Given the description of an element on the screen output the (x, y) to click on. 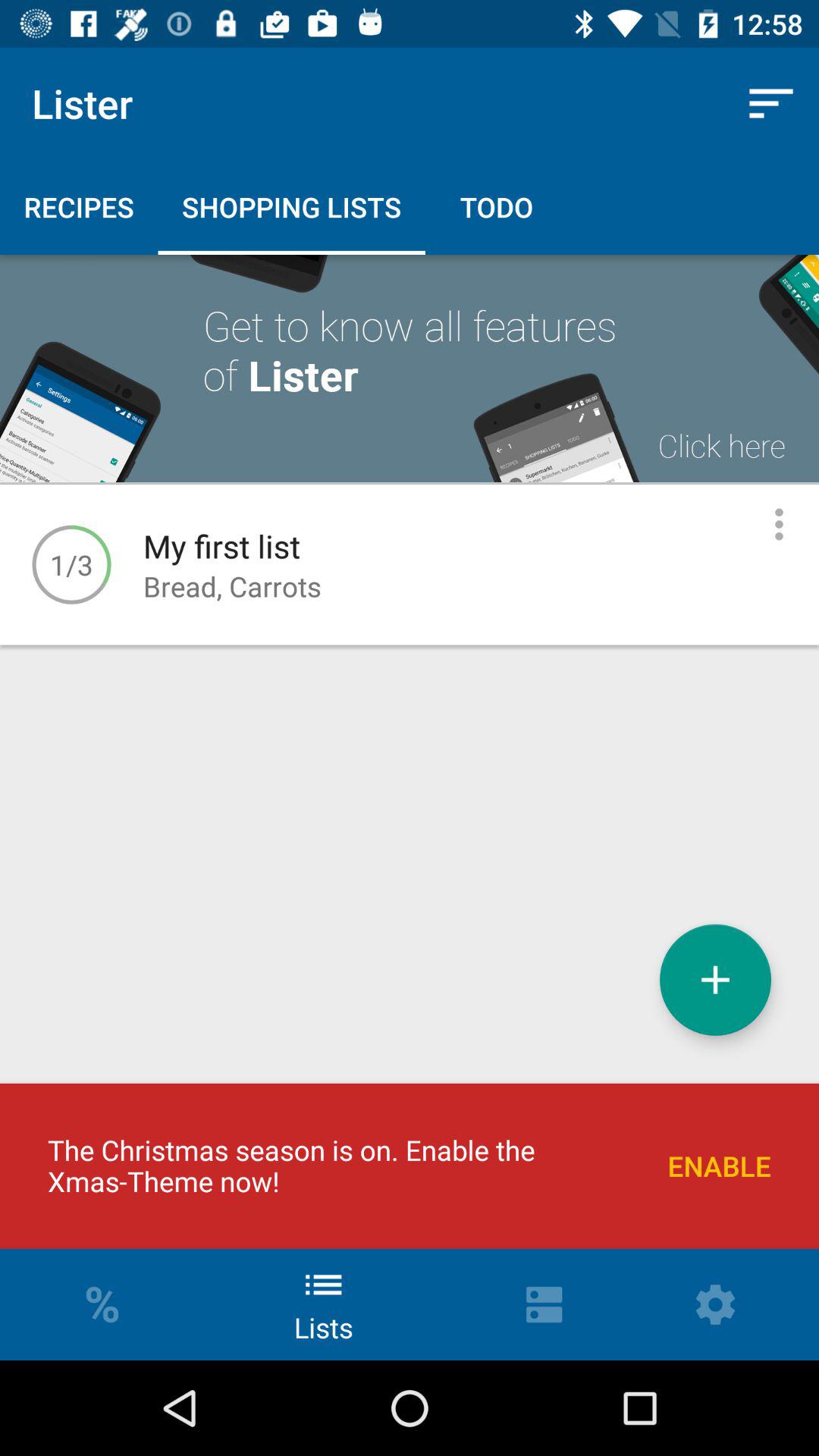
edit item/see more options (779, 524)
